Given the description of an element on the screen output the (x, y) to click on. 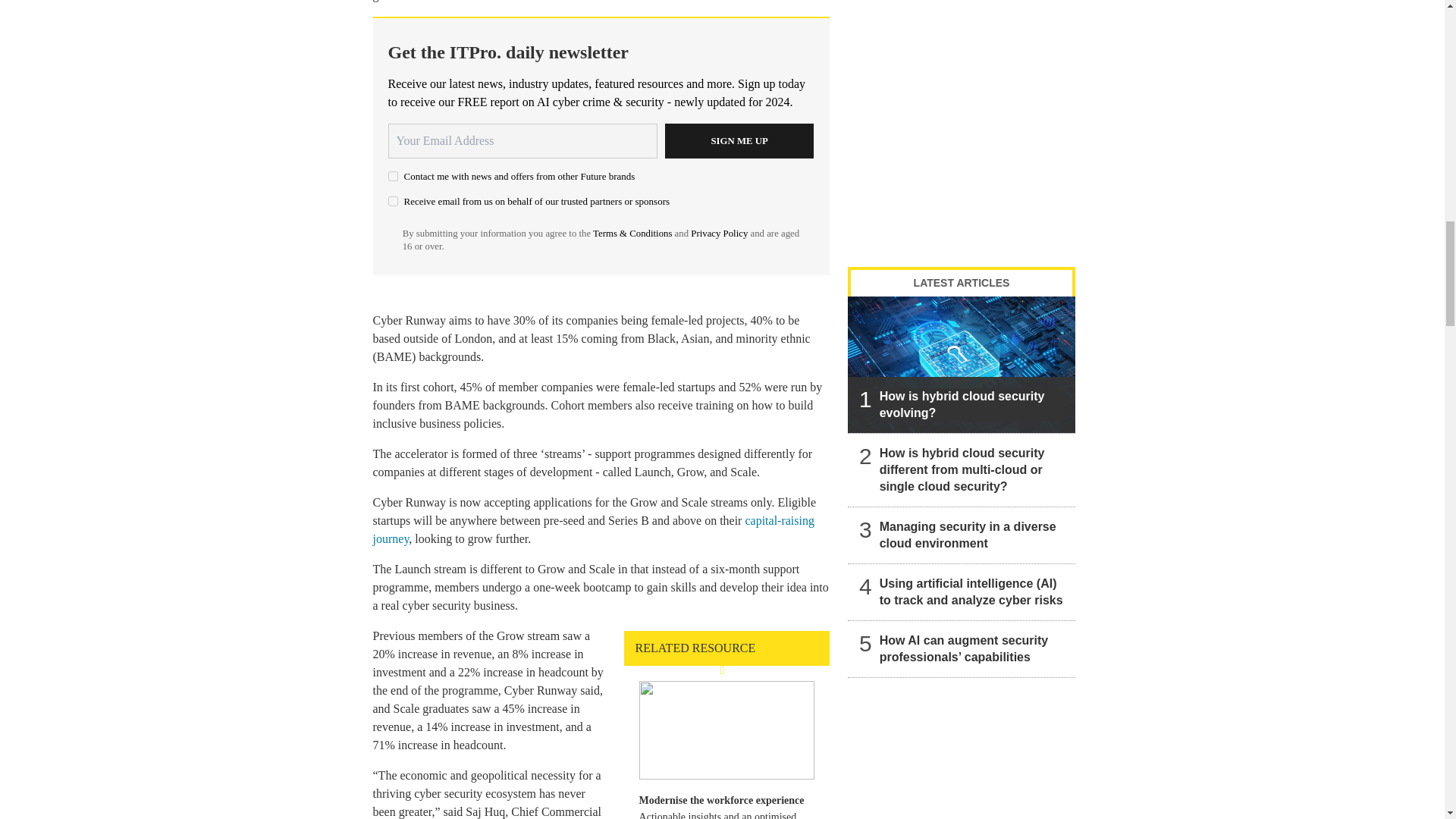
on (392, 175)
on (392, 201)
Sign me up (739, 140)
How is hybrid cloud security evolving? (961, 364)
